Given the description of an element on the screen output the (x, y) to click on. 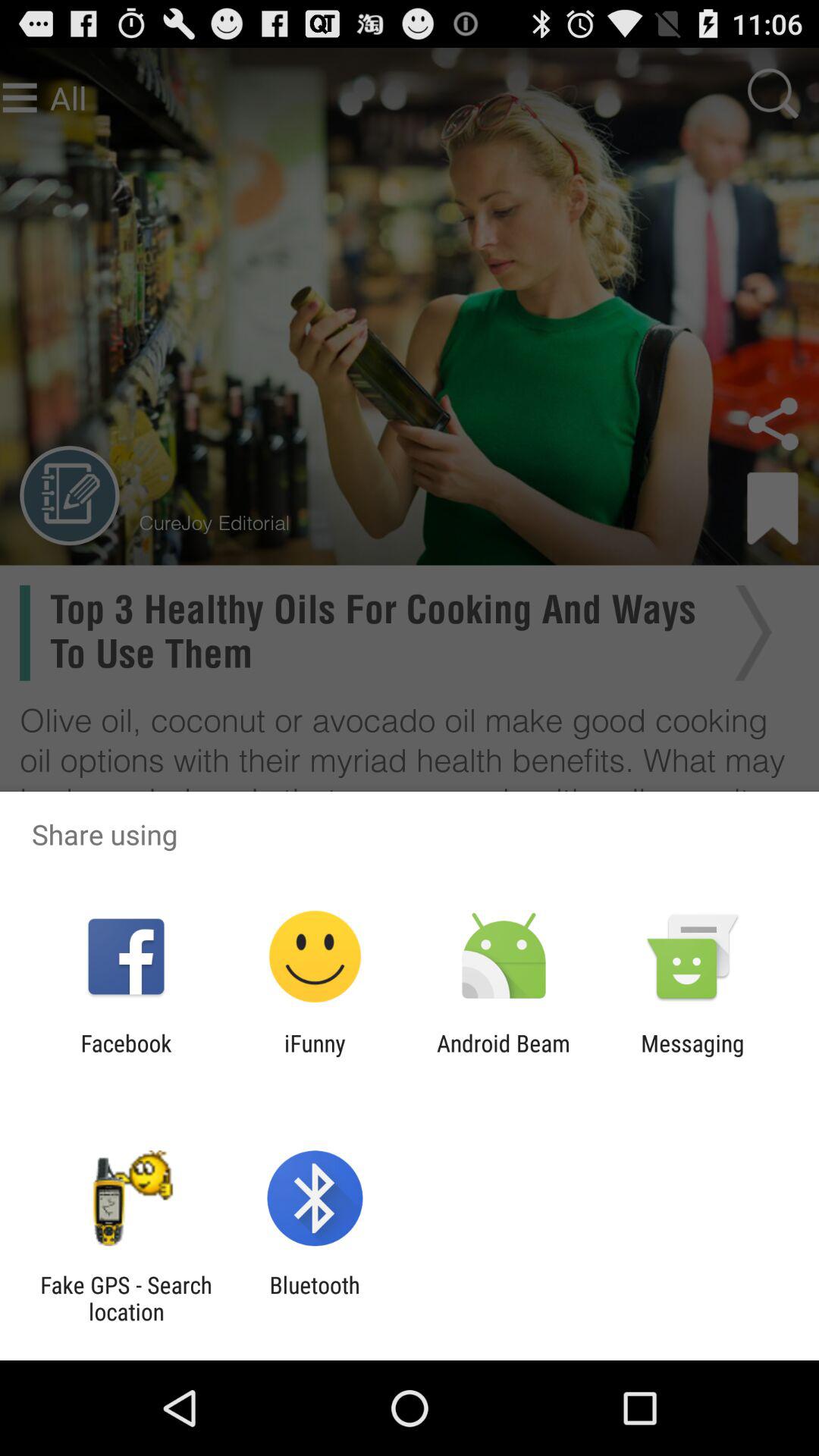
launch icon next to the ifunny item (503, 1056)
